Given the description of an element on the screen output the (x, y) to click on. 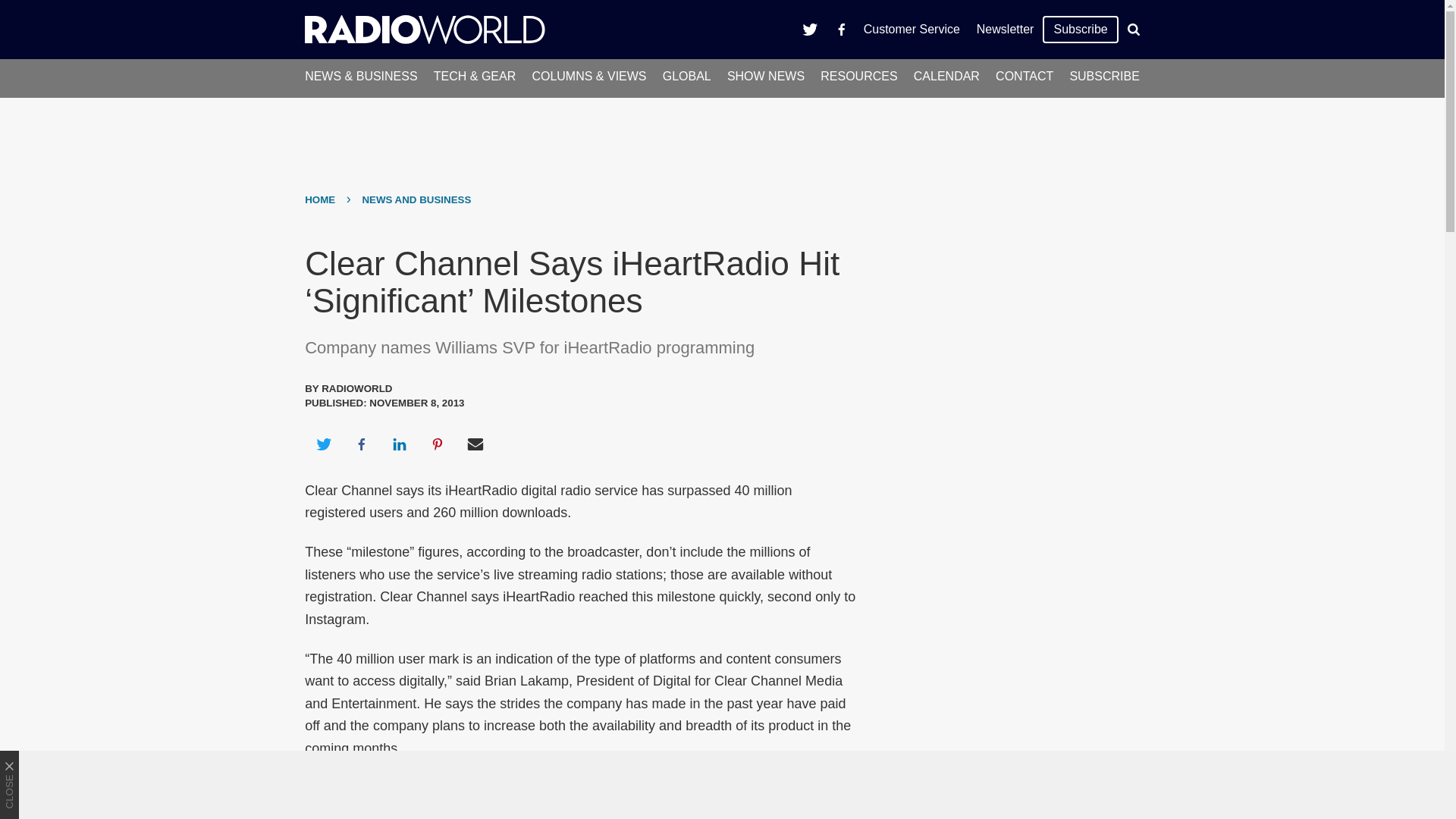
Customer Service (912, 29)
Share on Facebook (361, 444)
Share on LinkedIn (399, 444)
Share on Twitter (323, 444)
Newsletter (1005, 29)
Share via Email (476, 444)
Share on Pinterest (438, 444)
